Given the description of an element on the screen output the (x, y) to click on. 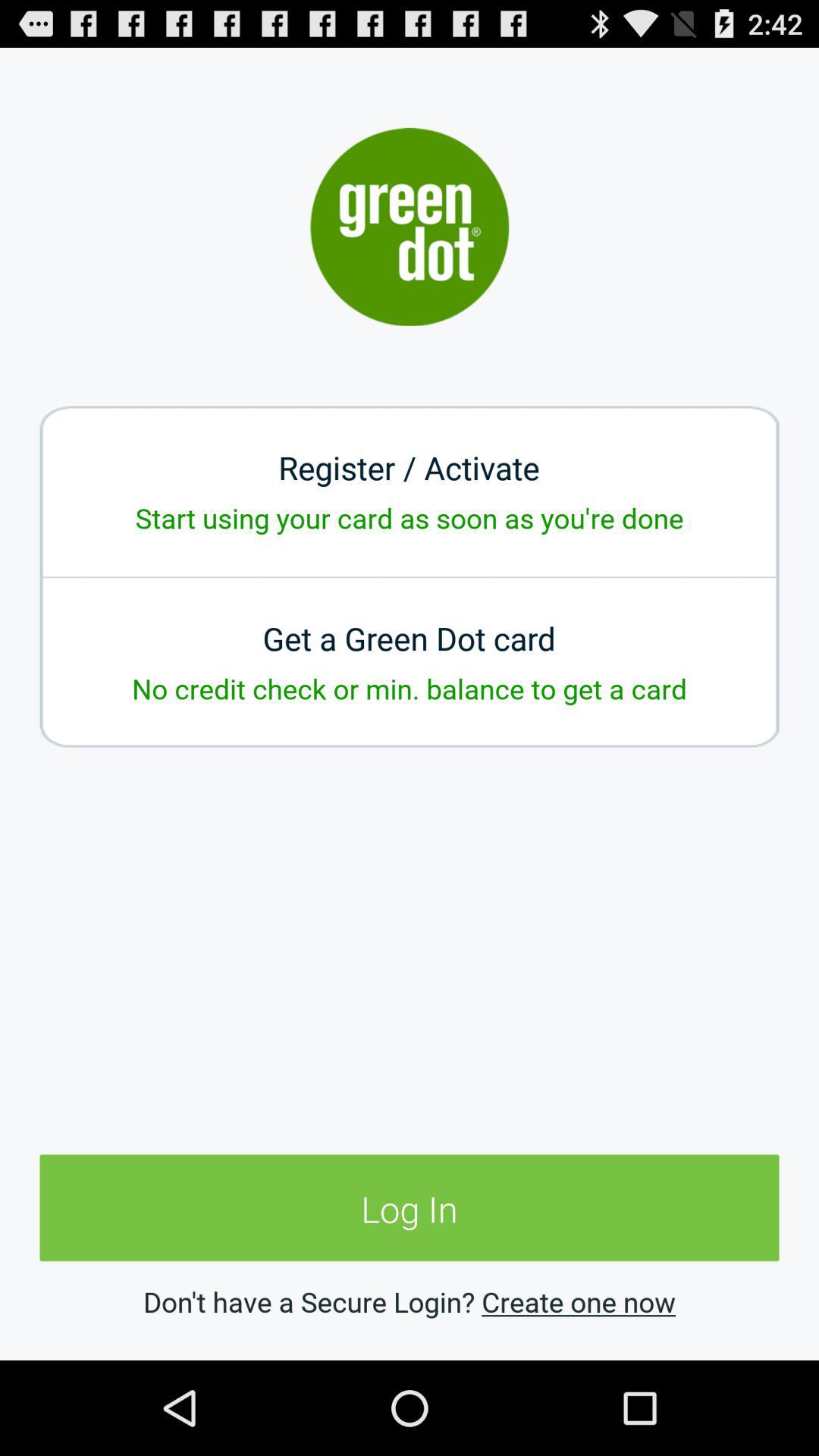
scroll until create one now app (578, 1301)
